Given the description of an element on the screen output the (x, y) to click on. 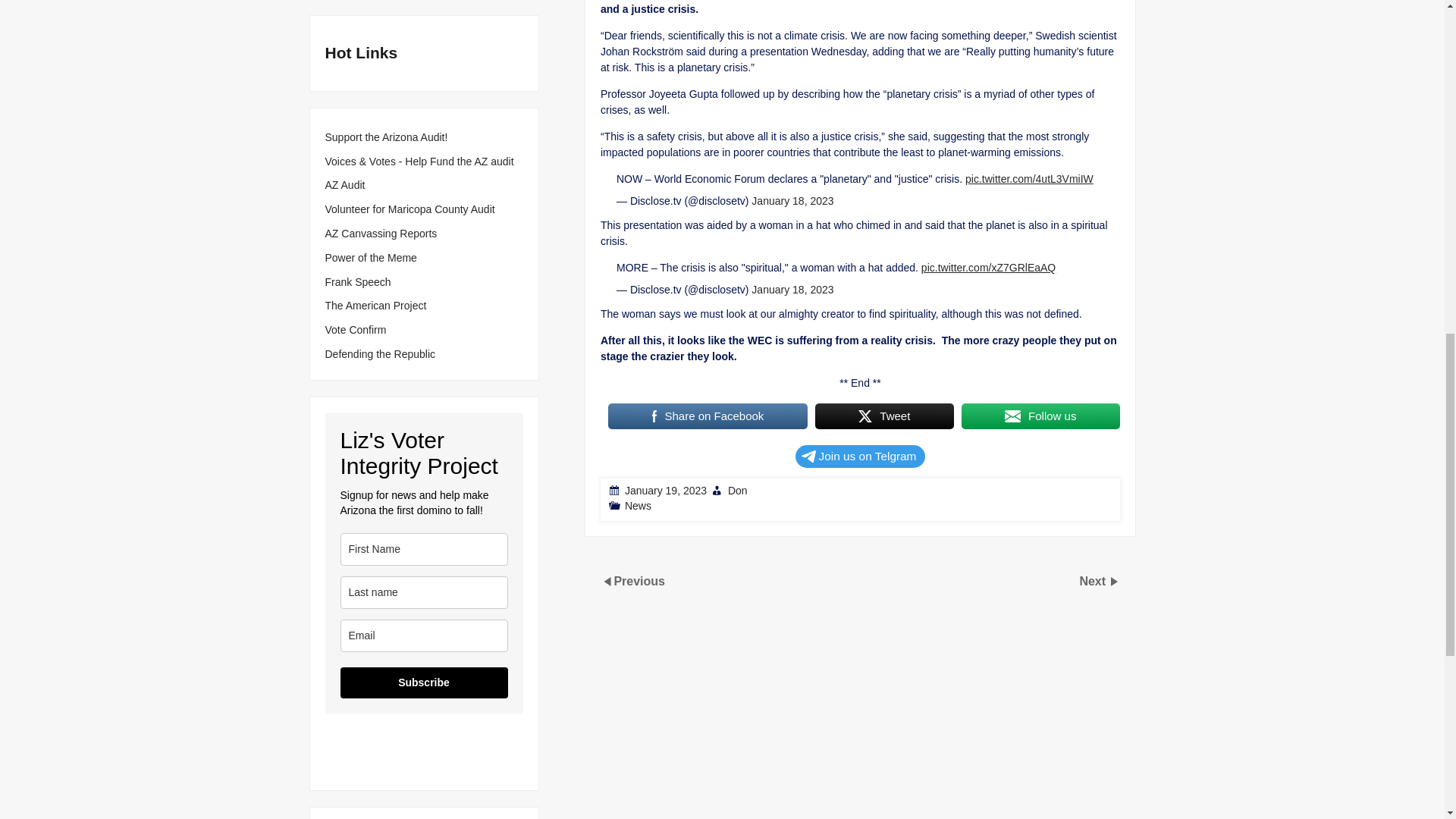
News (637, 505)
Join us on Telgram (859, 456)
January 19, 2023 (665, 490)
January 18, 2023 (791, 200)
January 18, 2023 (791, 289)
Support the Arizona Audit! (385, 137)
Previous (638, 580)
Tweet (883, 416)
Next (1093, 580)
Follow us (1039, 416)
Don (736, 490)
Share on Facebook (708, 416)
